Given the description of an element on the screen output the (x, y) to click on. 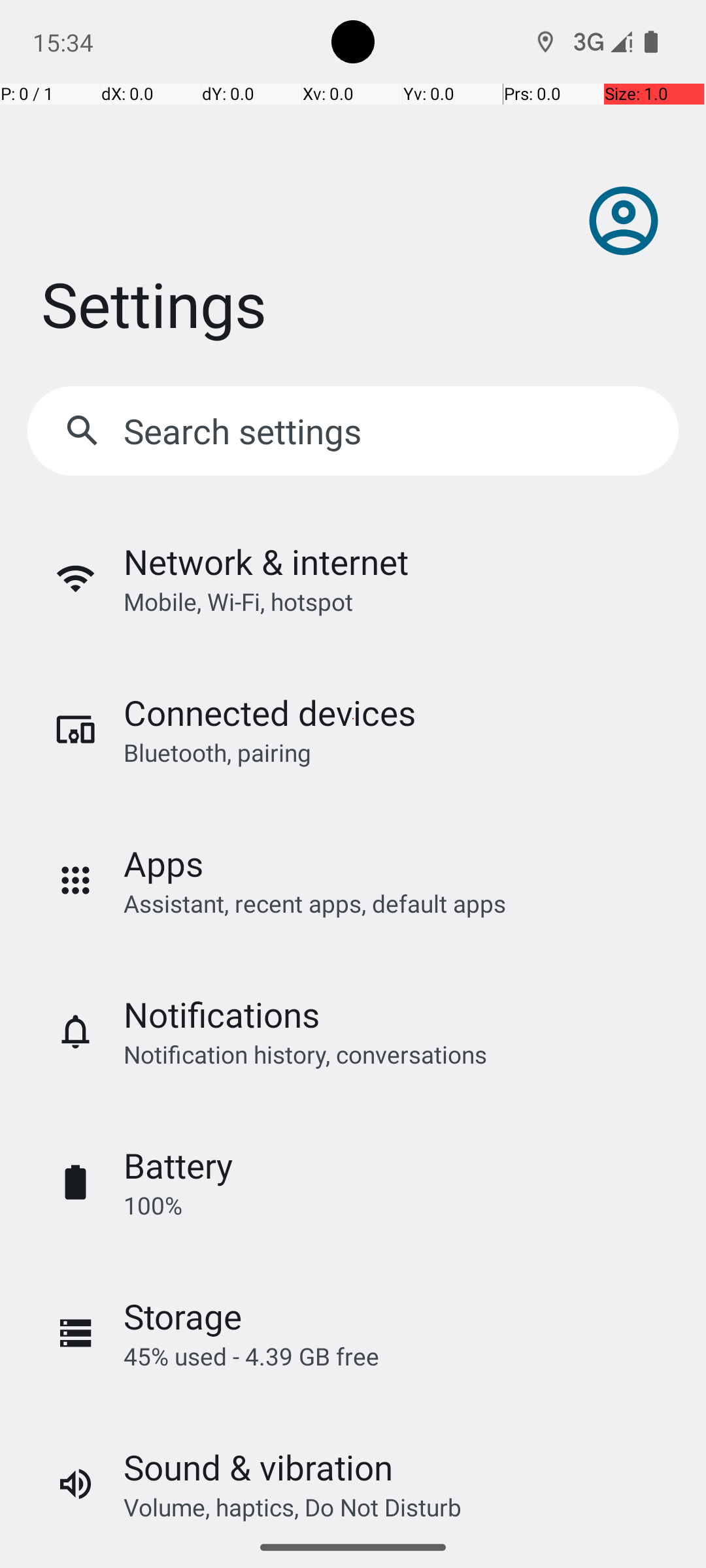
45% used - 4.39 GB free Element type: android.widget.TextView (251, 1355)
